Given the description of an element on the screen output the (x, y) to click on. 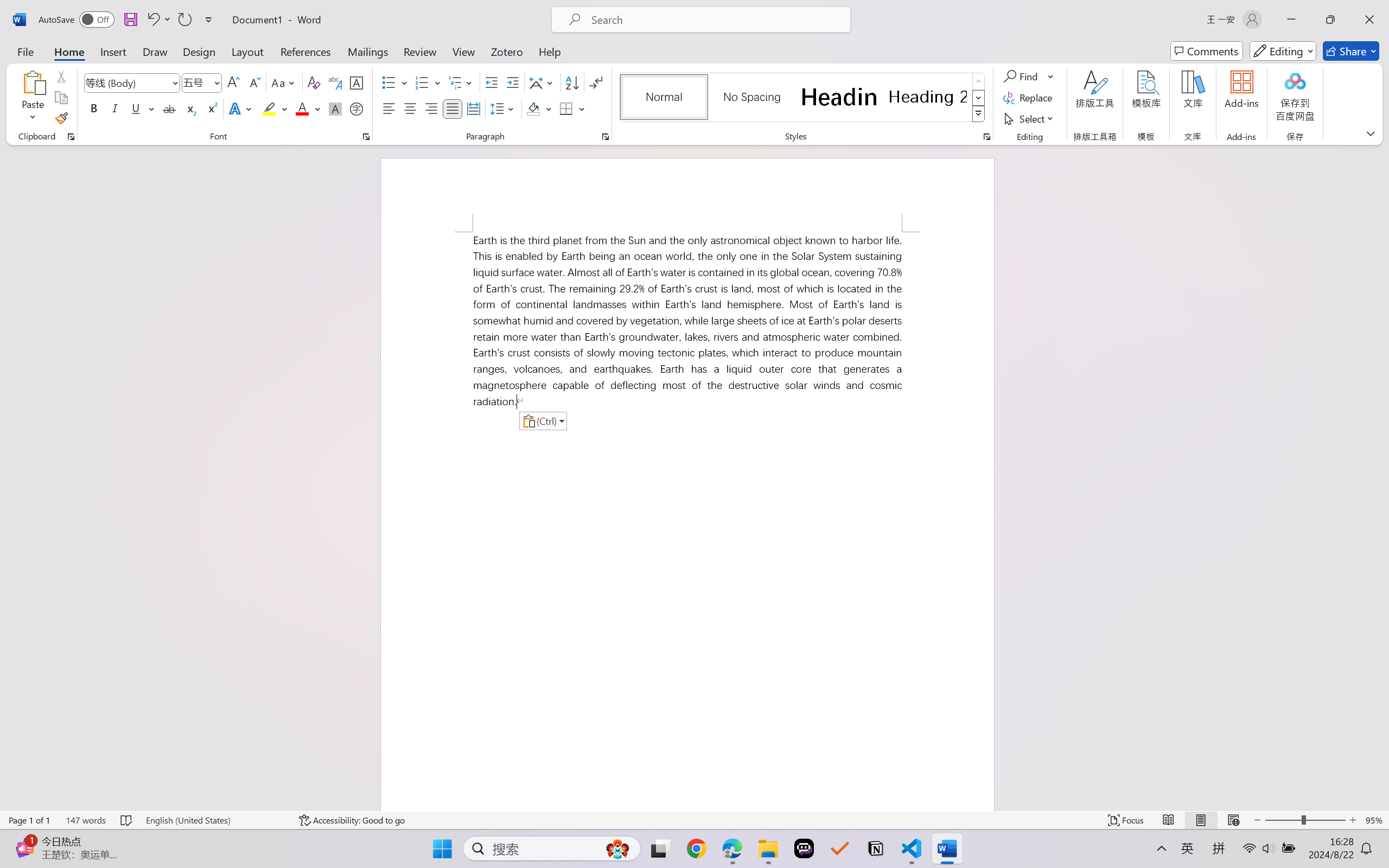
Character Shading (334, 108)
Center (409, 108)
Shading RGB(0, 0, 0) (533, 108)
Cut (60, 75)
Font... (365, 136)
Zoom 95% (1374, 819)
Line and Paragraph Spacing (503, 108)
Text Highlight Color Yellow (269, 108)
Repeat Paste Option (184, 19)
Decrease Indent (491, 82)
